Given the description of an element on the screen output the (x, y) to click on. 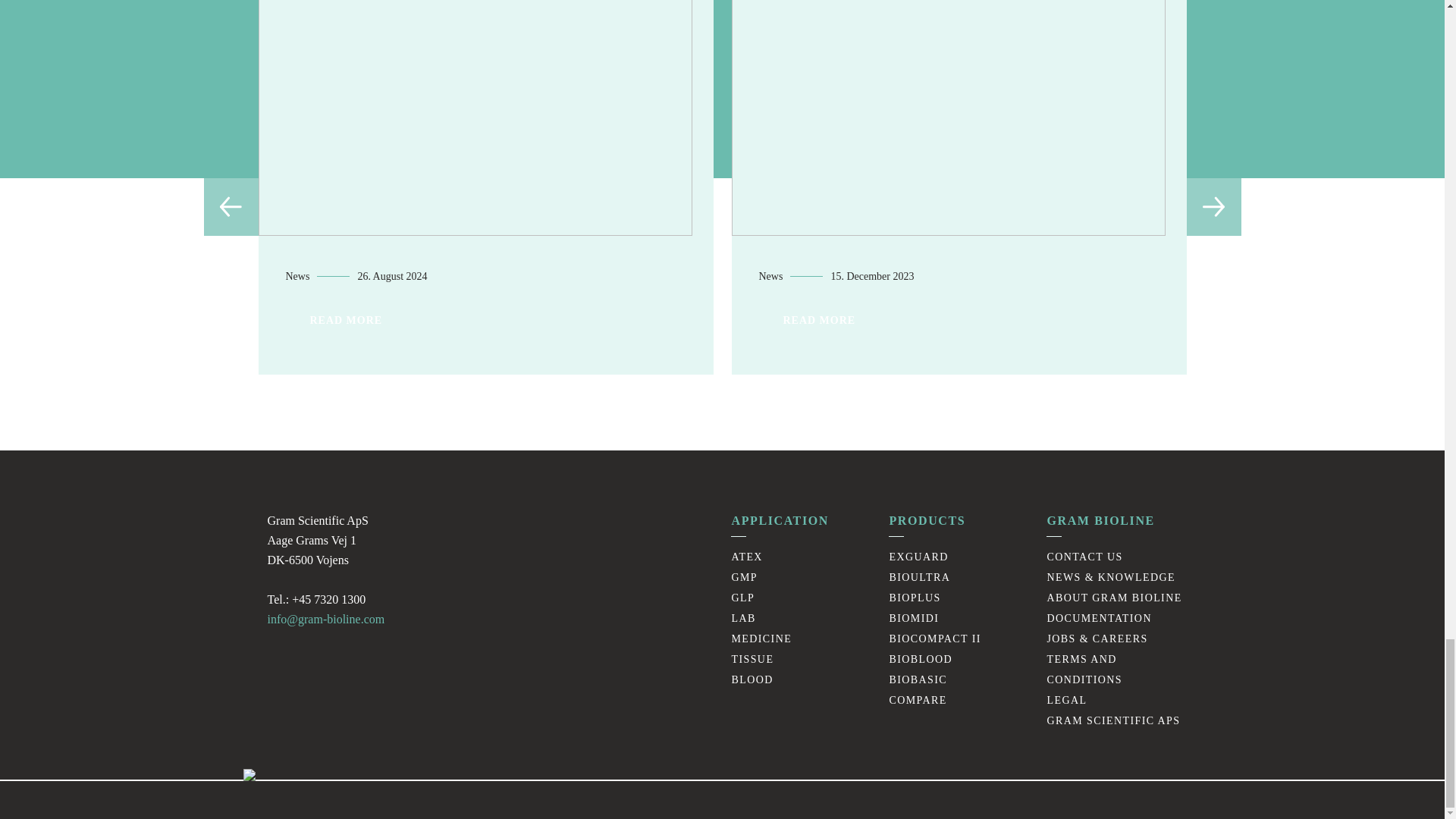
GMP (743, 577)
READ MORE (818, 320)
READ MORE (345, 320)
ATEX (745, 556)
READ MORE (1291, 320)
